Given the description of an element on the screen output the (x, y) to click on. 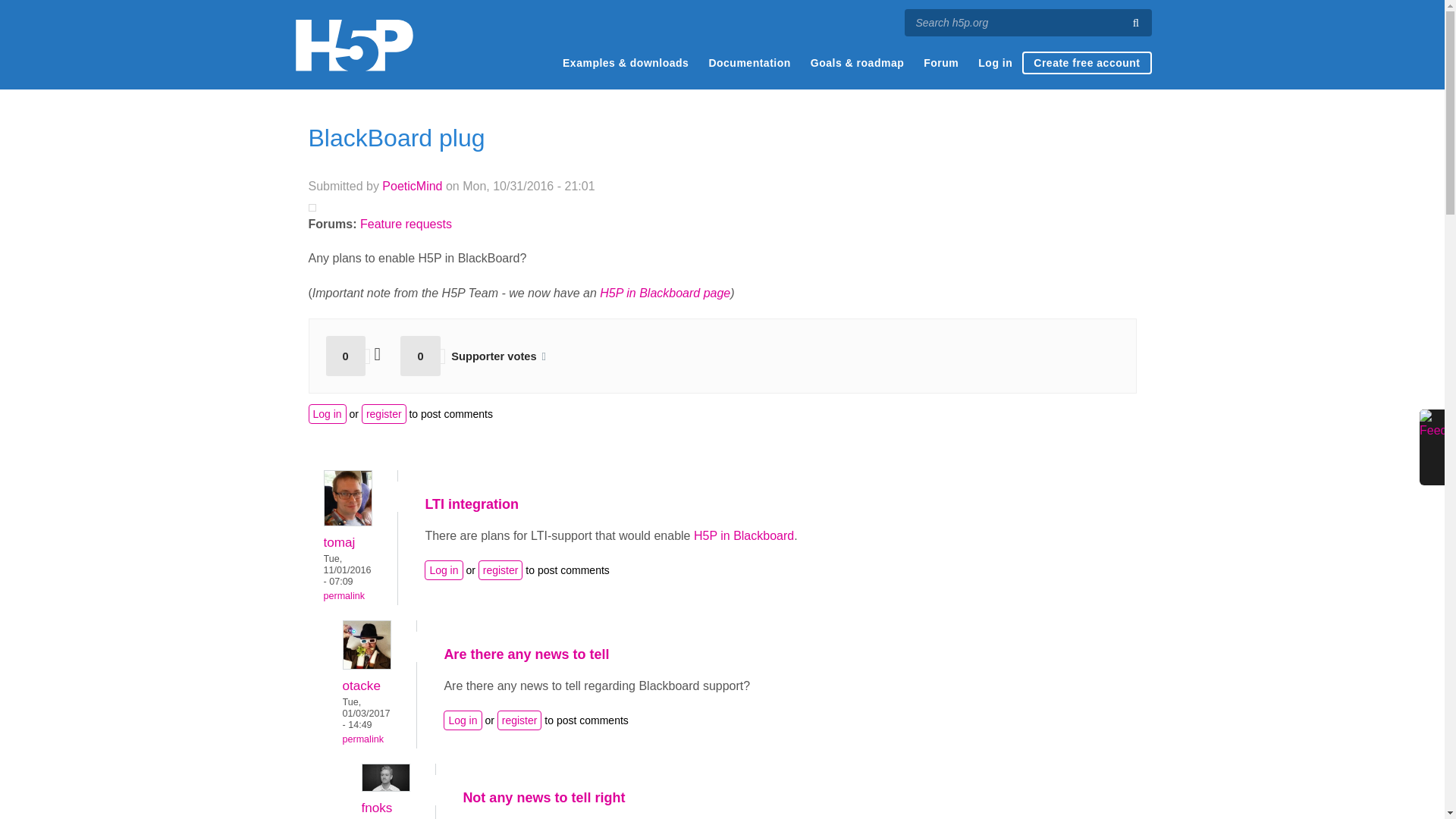
H5P in Blackboard page (664, 292)
Feature requests (405, 223)
Log in (462, 720)
Are there any news to tell (526, 654)
otacke's picture (366, 644)
Create free account (1086, 62)
LTI integration (471, 503)
View user profile. (411, 185)
View user profile. (366, 665)
Log in (444, 569)
